Given the description of an element on the screen output the (x, y) to click on. 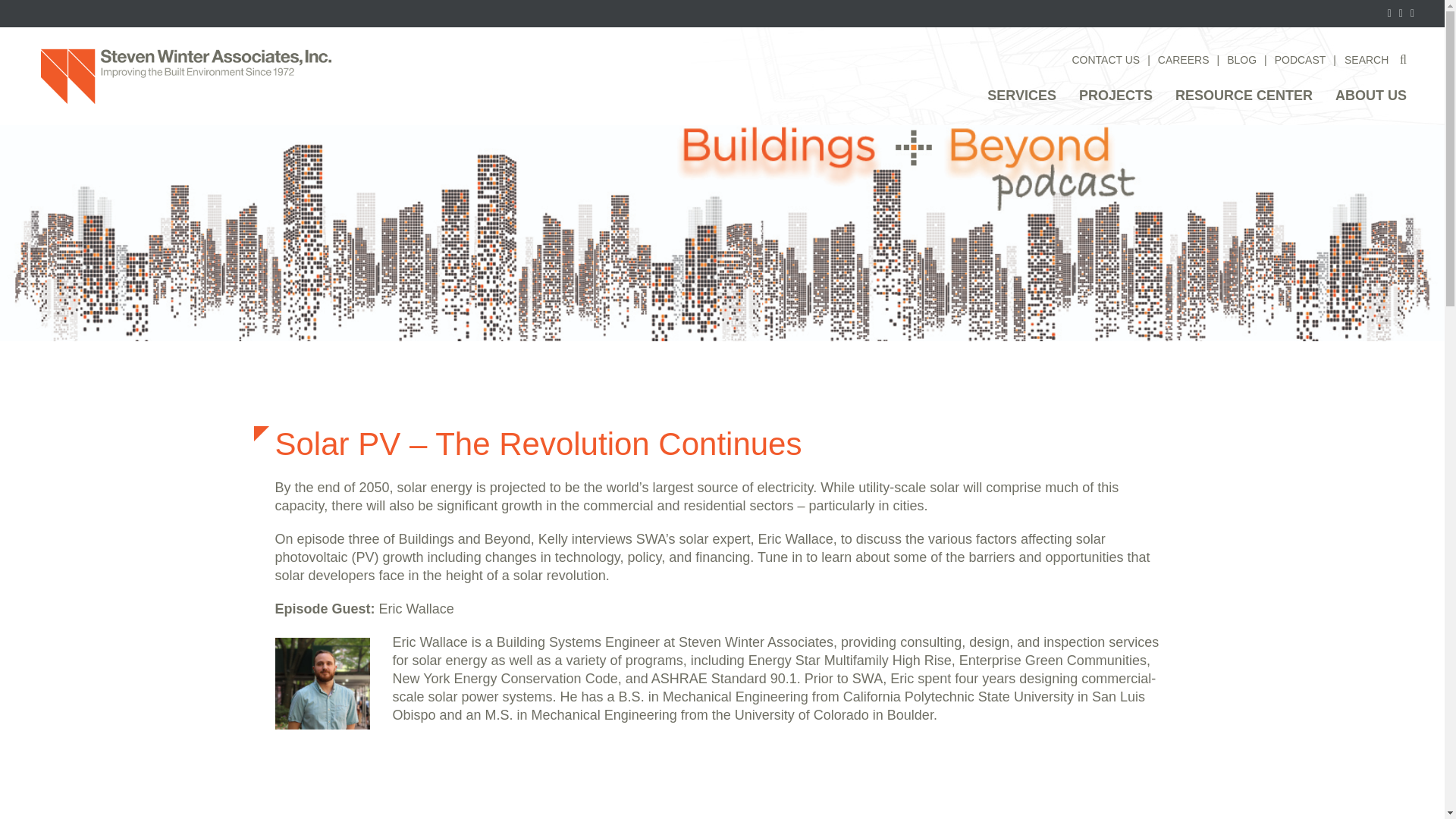
PODCAST (1300, 60)
PROJECTS (1115, 97)
SERVICES (1022, 97)
BLOG (1241, 60)
CONTACT US (1105, 60)
CAREERS (1183, 60)
RESOURCE CENTER (1243, 97)
Blubrry Podcast Player (722, 780)
